Given the description of an element on the screen output the (x, y) to click on. 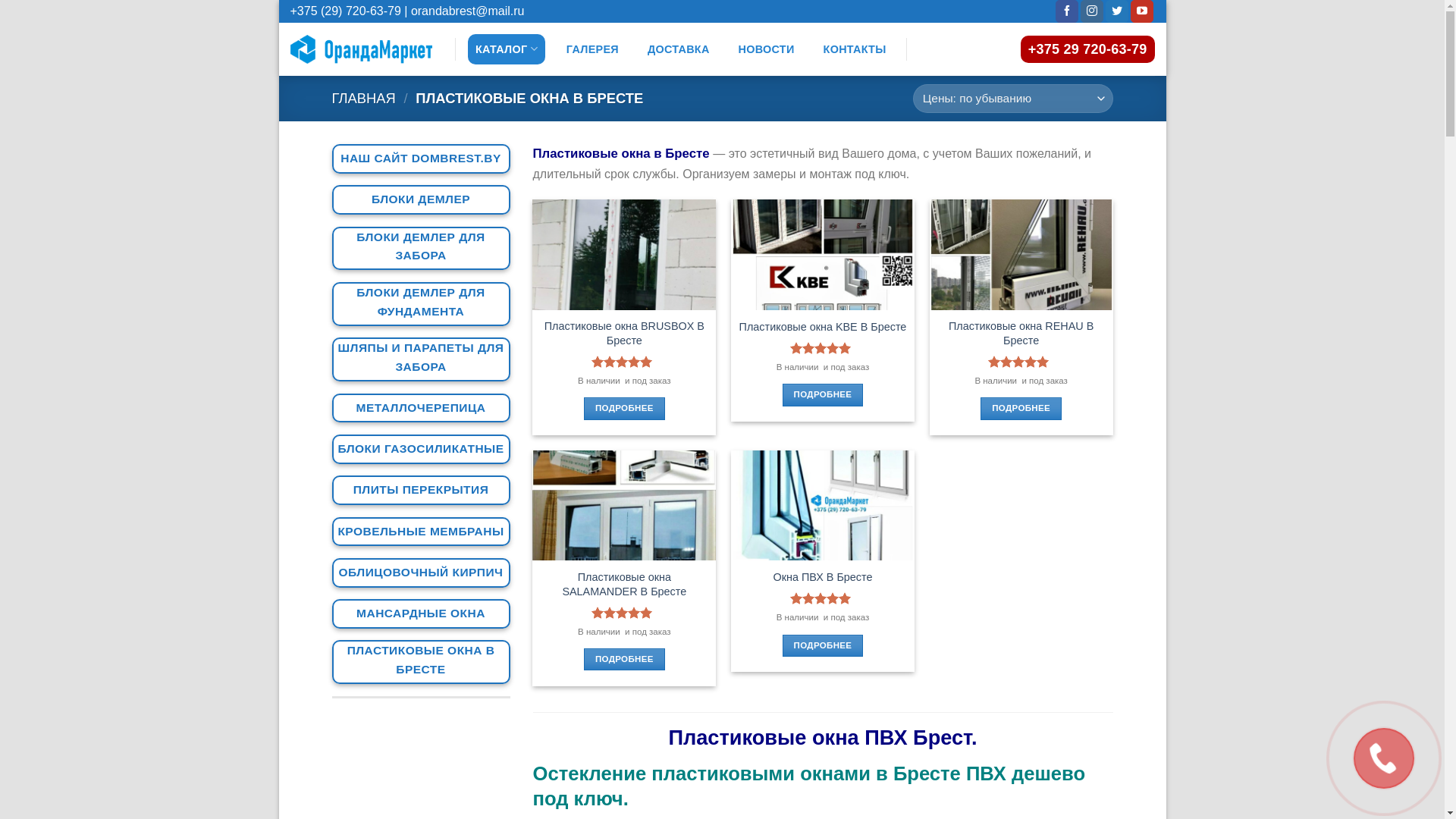
+375 29 720-63-79 Element type: text (1087, 48)
Skip to content Element type: text (279, 0)
